Given the description of an element on the screen output the (x, y) to click on. 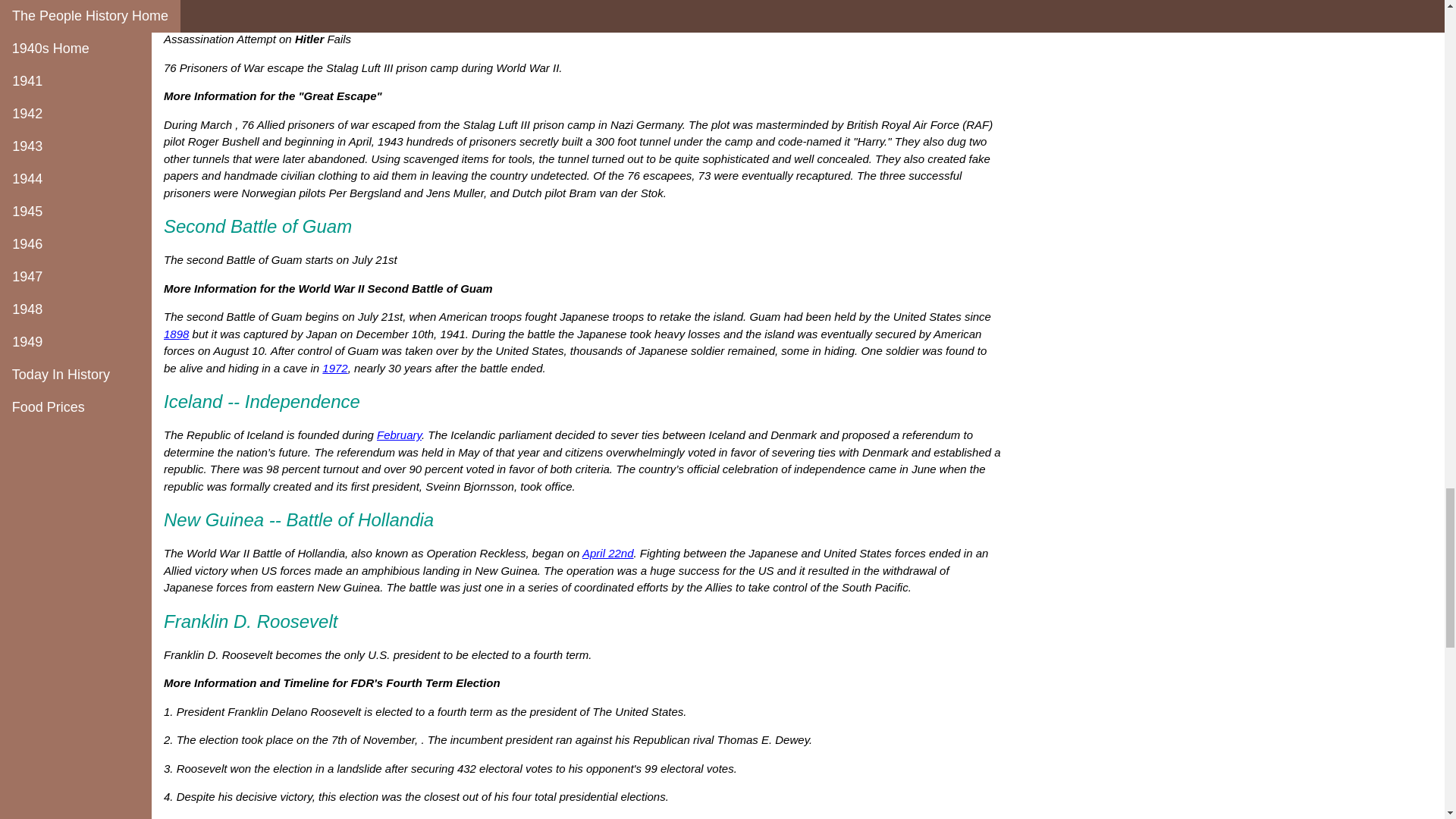
February (399, 434)
April 22nd (607, 553)
1898 (176, 333)
1972 (334, 367)
